Given the description of an element on the screen output the (x, y) to click on. 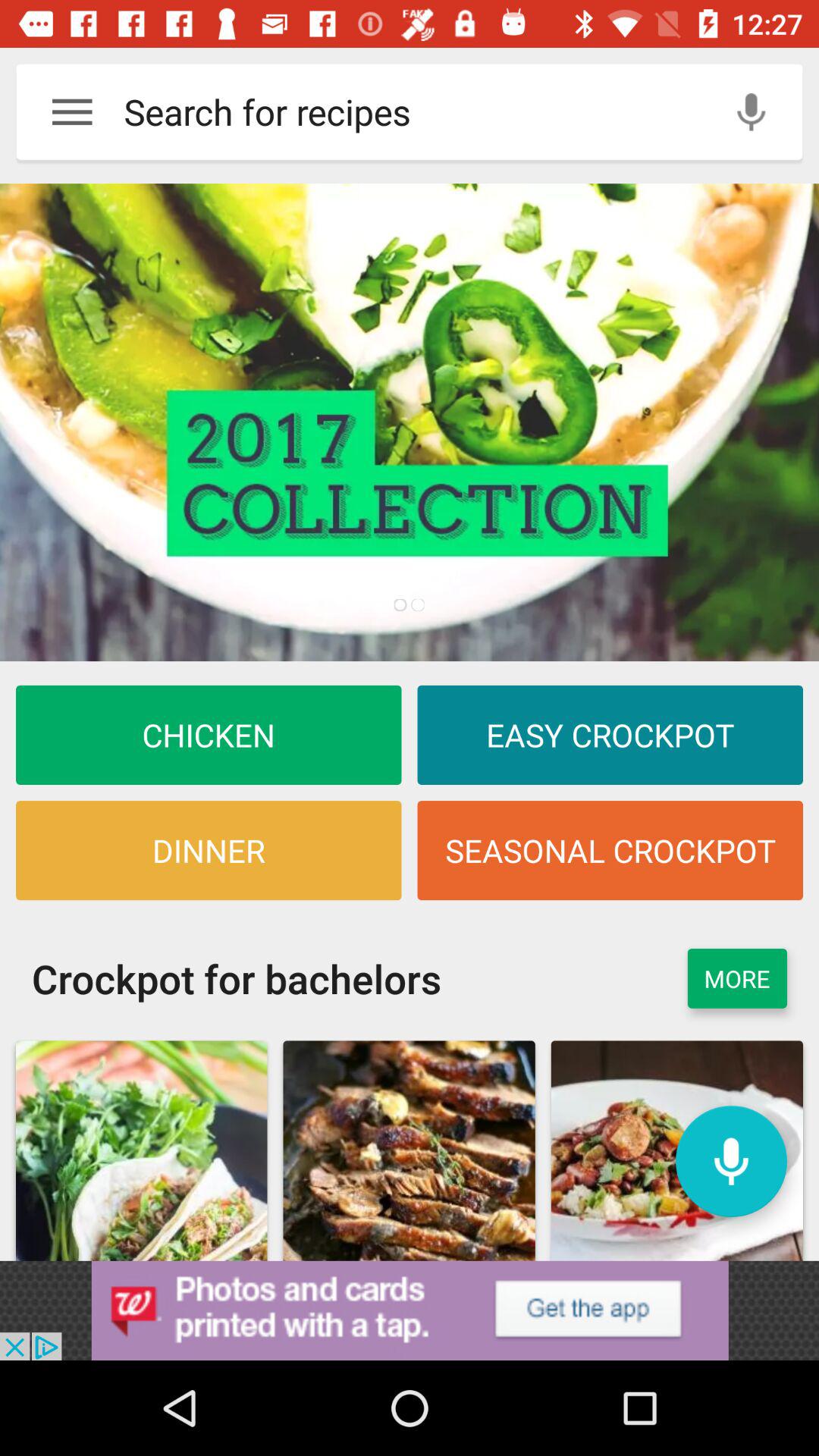
record audio (751, 111)
